Given the description of an element on the screen output the (x, y) to click on. 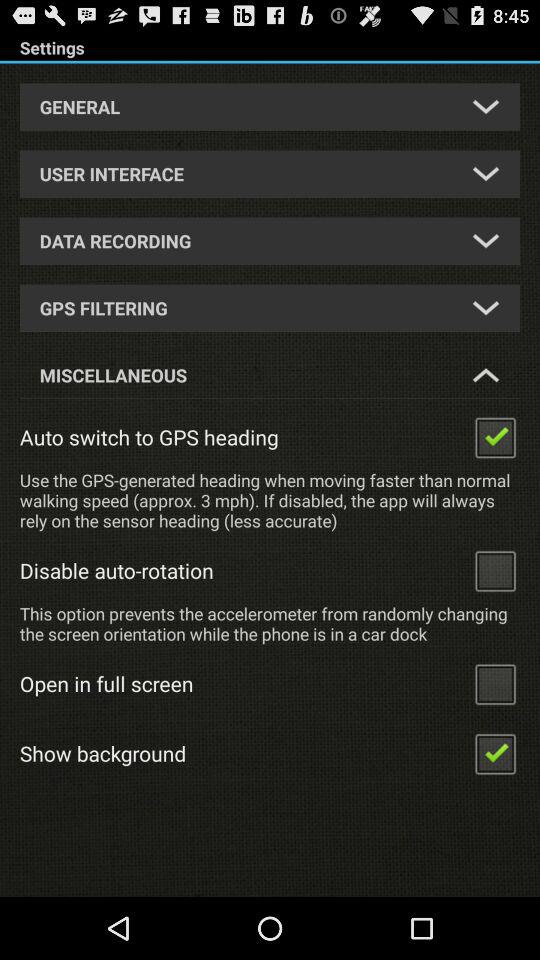
enable fullscreen (495, 683)
